Given the description of an element on the screen output the (x, y) to click on. 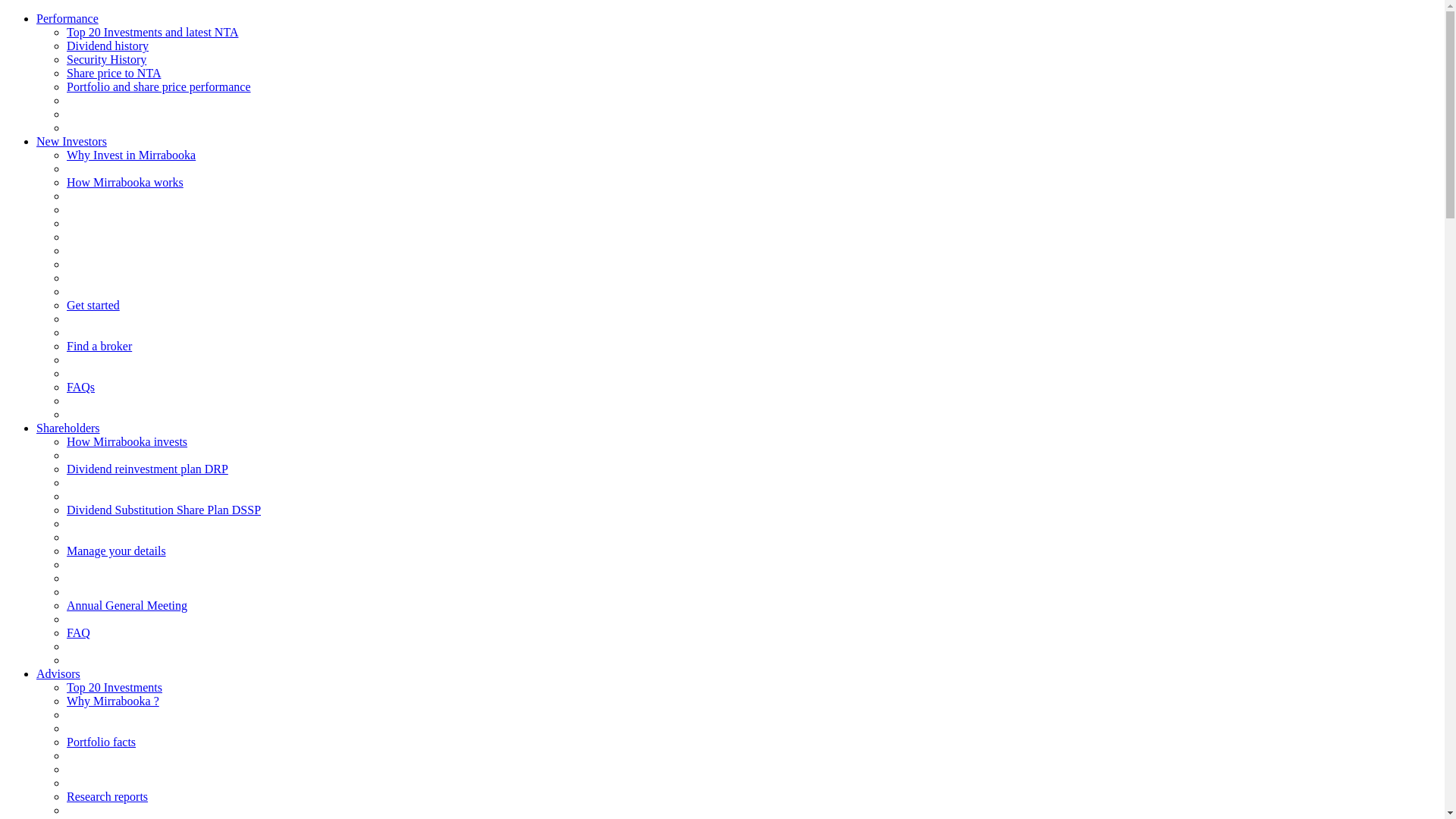
Advisors Element type: text (58, 673)
New Investors Element type: text (71, 140)
Dividend reinvestment plan DRP Element type: text (147, 468)
Portfolio and share price performance Element type: text (158, 86)
Top 20 Investments and latest NTA Element type: text (152, 31)
Security History Element type: text (106, 59)
Dividend Substitution Share Plan DSSP Element type: text (163, 509)
Annual General Meeting Element type: text (126, 605)
FAQ Element type: text (78, 632)
Share price to NTA Element type: text (113, 72)
Manage your details Element type: text (116, 550)
How Mirrabooka invests Element type: text (126, 441)
Get started Element type: text (92, 304)
Performance Element type: text (67, 18)
Why Mirrabooka ? Element type: text (112, 700)
Top 20 Investments Element type: text (114, 686)
Dividend history Element type: text (107, 45)
Research reports Element type: text (106, 796)
Find a broker Element type: text (98, 345)
Why Invest in Mirrabooka Element type: text (130, 154)
Portfolio facts Element type: text (100, 741)
How Mirrabooka works Element type: text (124, 181)
Shareholders Element type: text (68, 427)
FAQs Element type: text (80, 386)
